Given the description of an element on the screen output the (x, y) to click on. 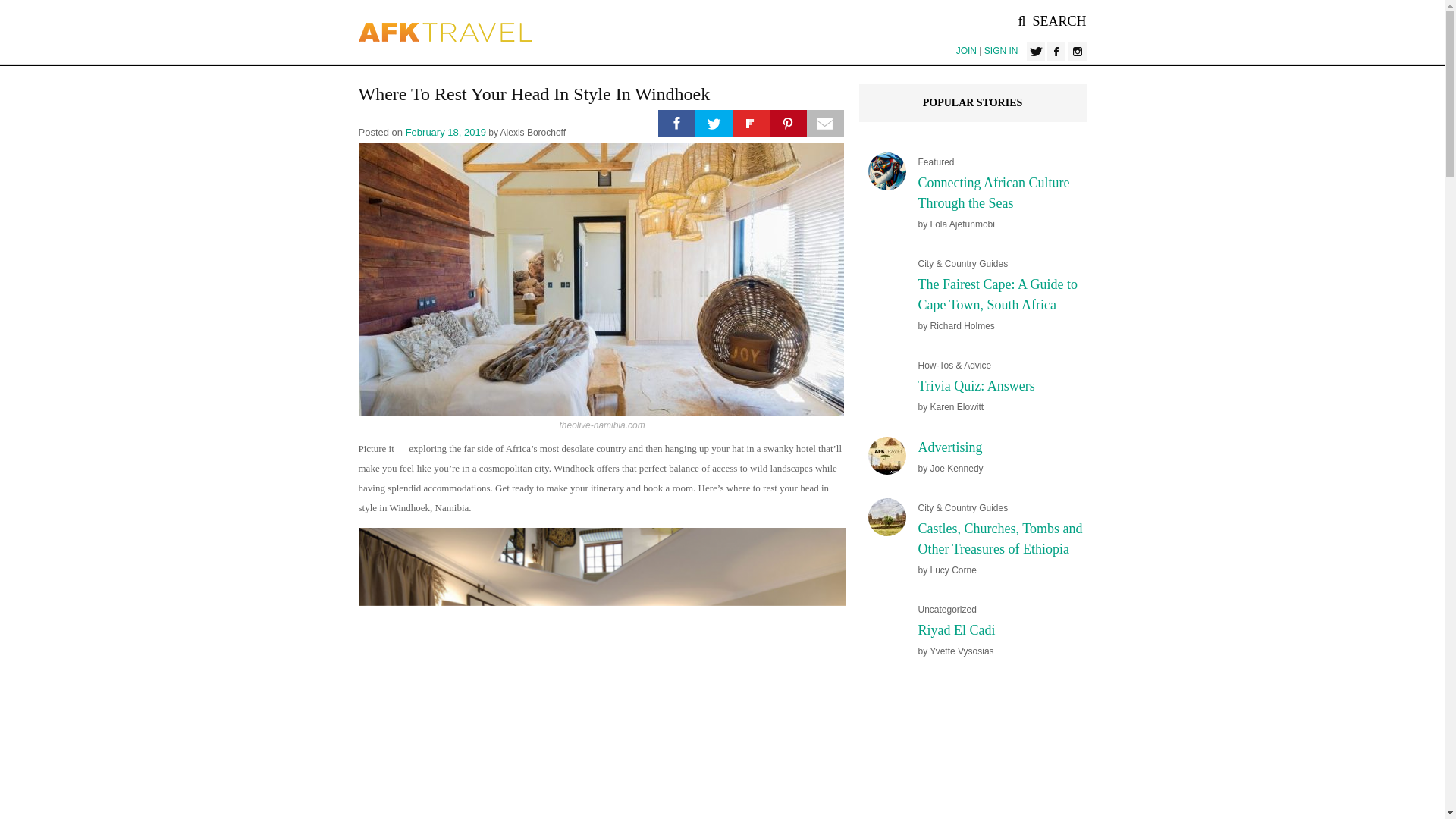
Alexis Borochoff (533, 132)
  SEARCH (1051, 21)
Connecting African Culture Through the Seas (992, 193)
The Fairest Cape: A Guide to Cape Town, South Africa (997, 294)
AFKTravel (445, 31)
SIGN IN (1000, 50)
February 18, 2019 (446, 132)
Advertising (949, 447)
JOIN (966, 50)
Trivia Quiz: Answers (975, 385)
